Given the description of an element on the screen output the (x, y) to click on. 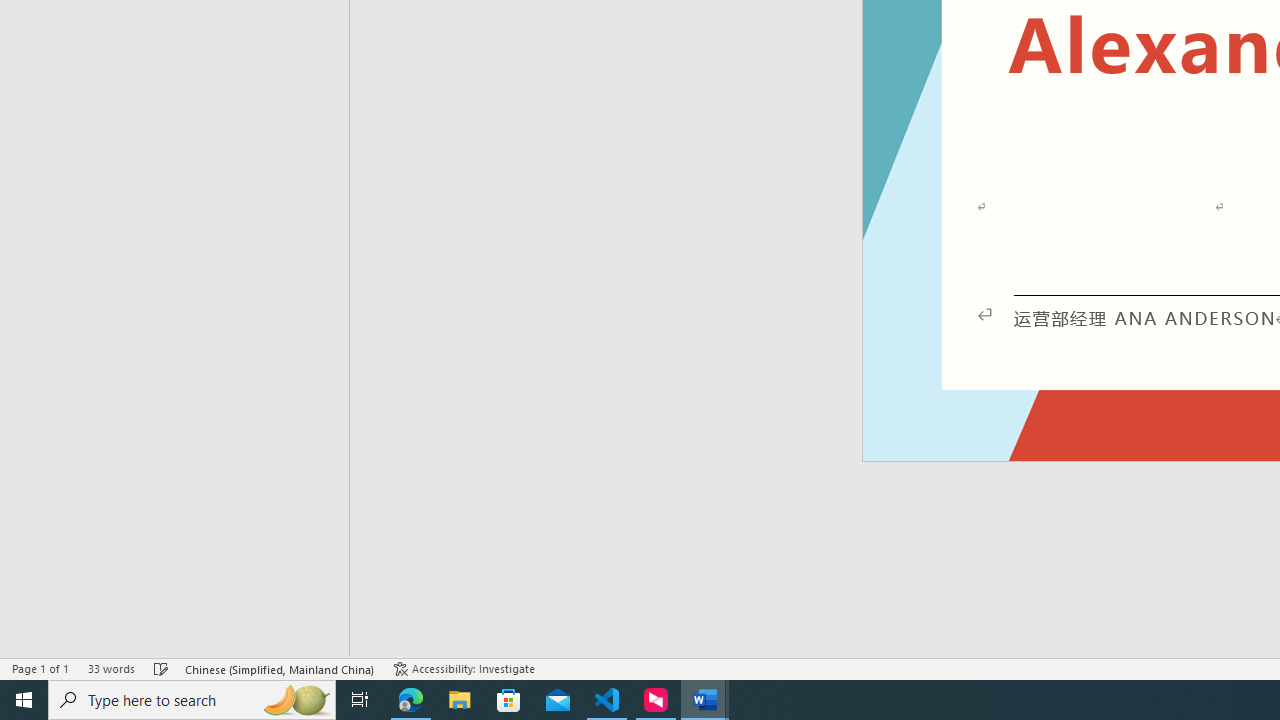
Spelling and Grammar Check Checking (161, 668)
Page Number Page 1 of 1 (39, 668)
